Given the description of an element on the screen output the (x, y) to click on. 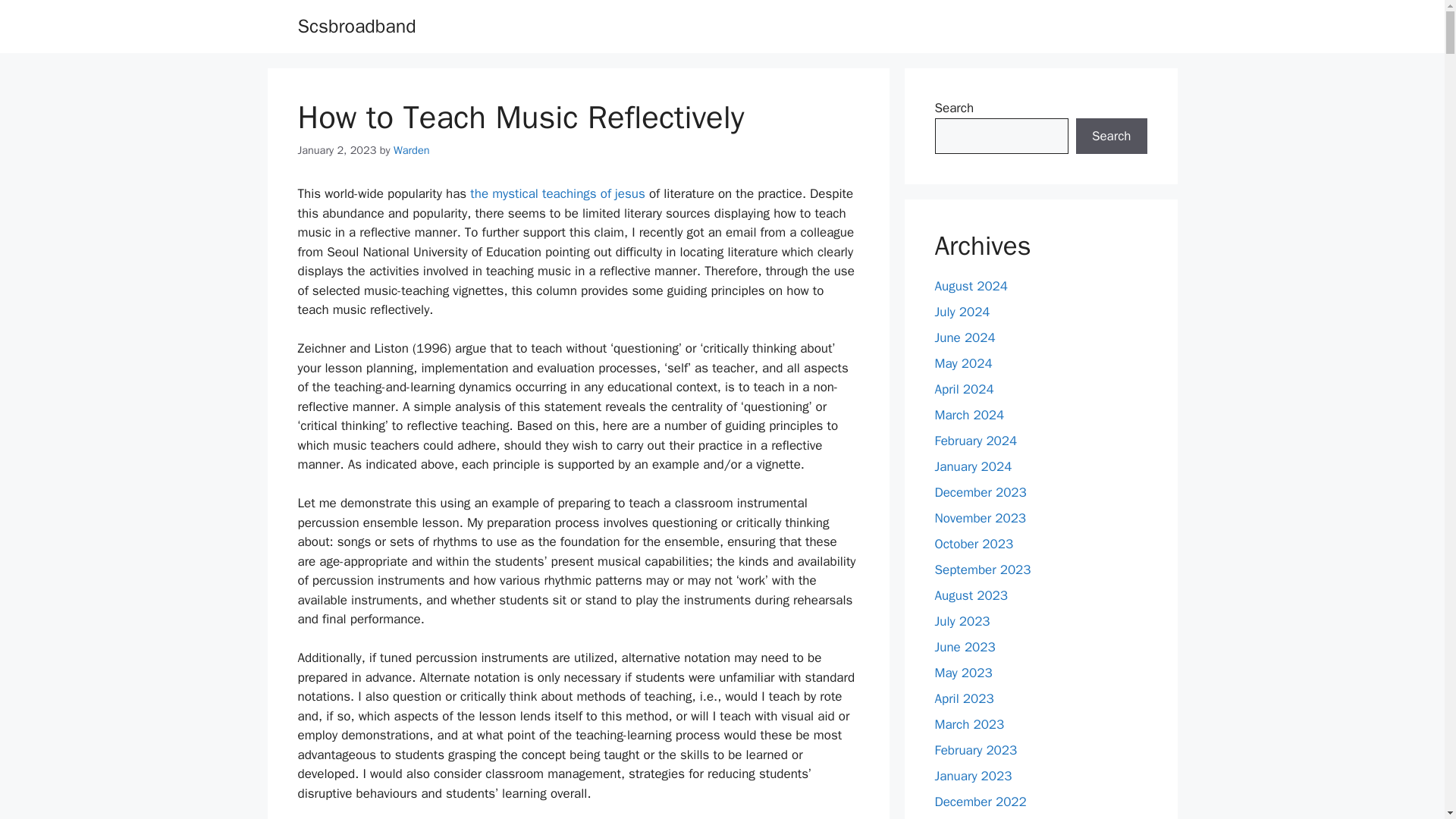
June 2023 (964, 647)
January 2023 (972, 775)
View all posts by Warden (411, 150)
Warden (411, 150)
October 2023 (973, 544)
May 2023 (962, 672)
Search (1111, 135)
February 2023 (975, 750)
December 2023 (980, 492)
the mystical teachings of jesus (557, 193)
